Given the description of an element on the screen output the (x, y) to click on. 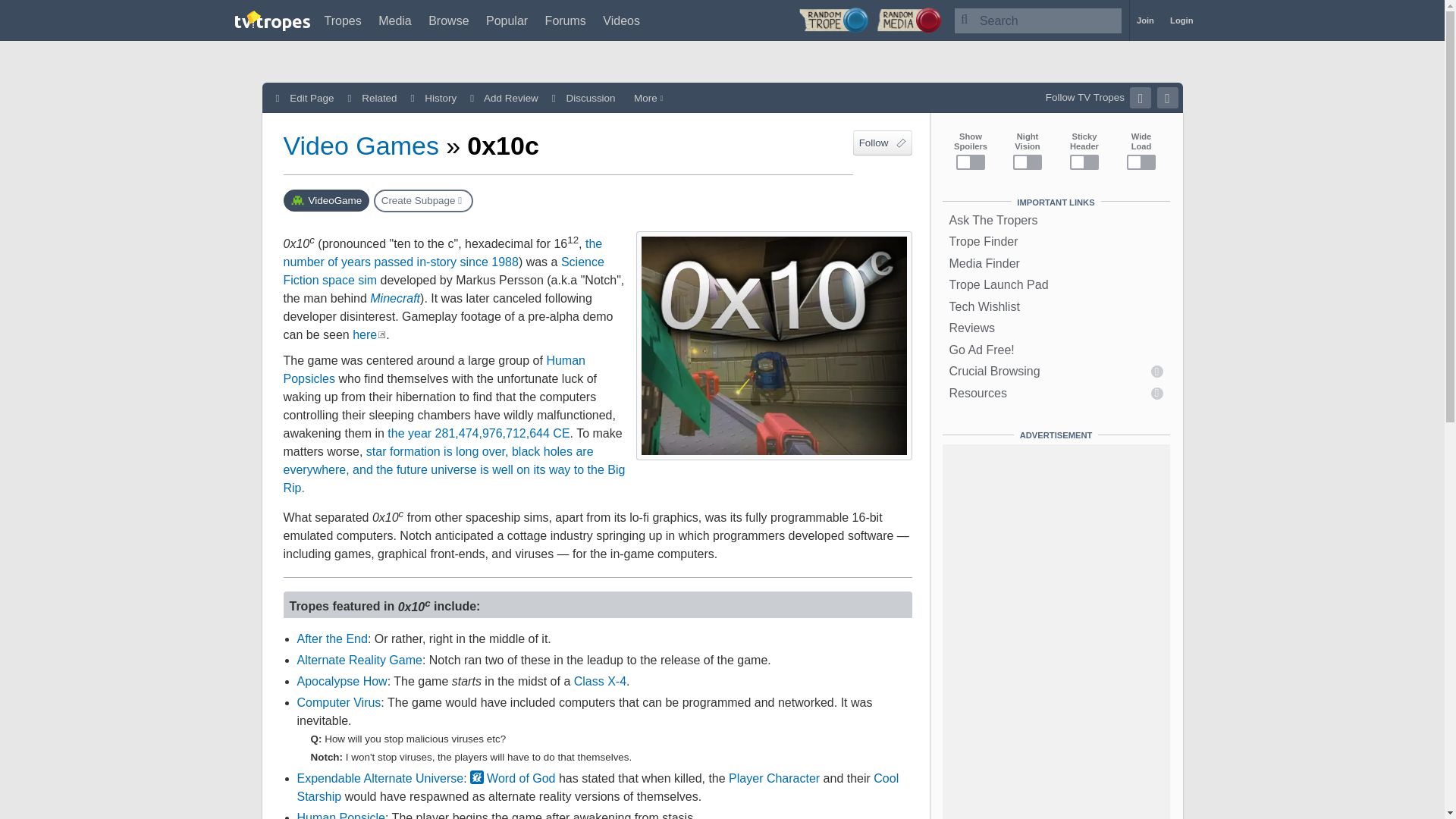
Media (395, 20)
Popular (506, 20)
Videos (621, 20)
Tropes (342, 20)
Forums (565, 20)
Login (1181, 20)
Browse (448, 20)
The Video Game page (326, 200)
